Given the description of an element on the screen output the (x, y) to click on. 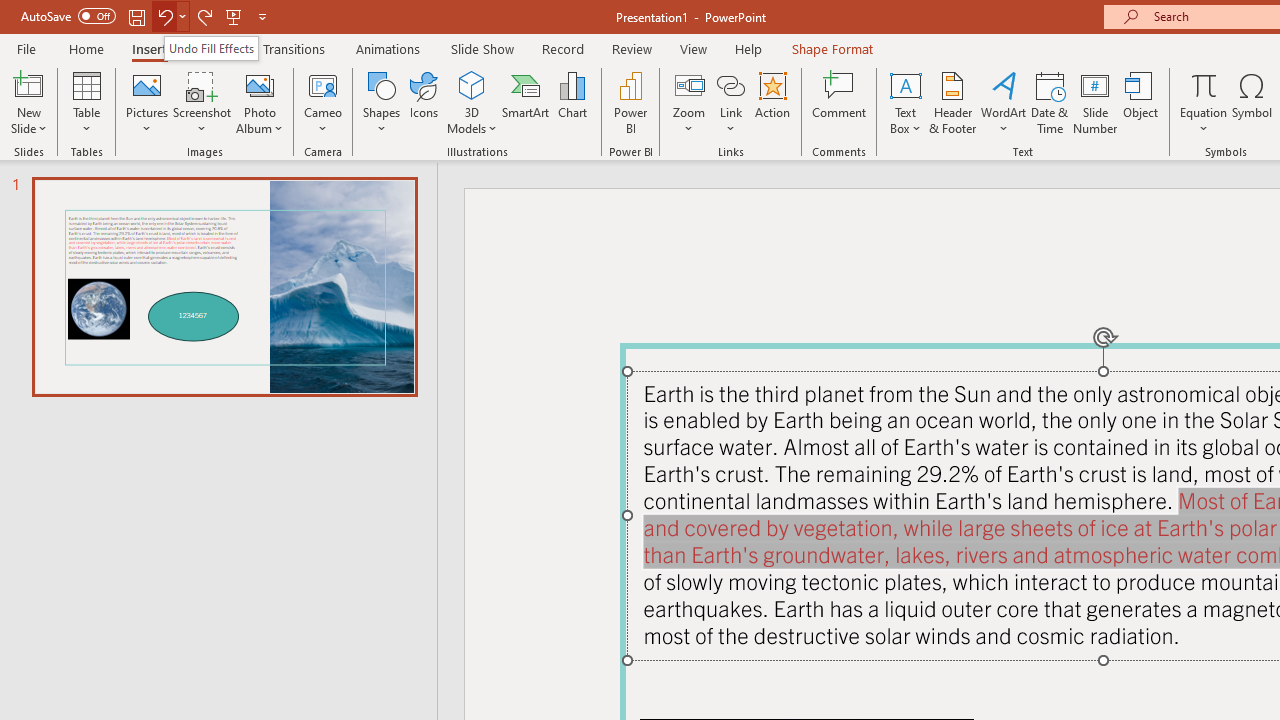
WordArt (1004, 102)
Chart... (572, 102)
Symbol... (1252, 102)
